Given the description of an element on the screen output the (x, y) to click on. 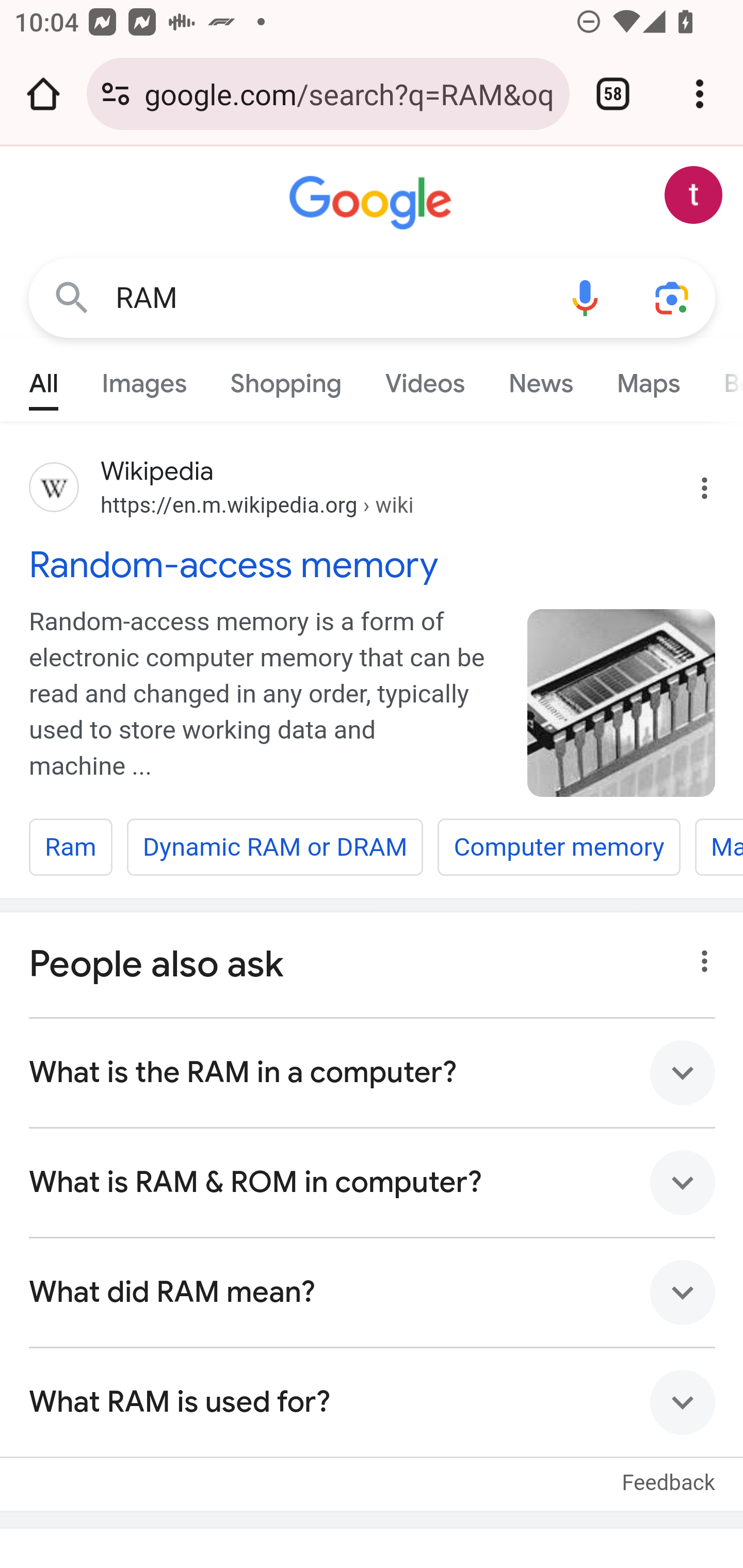
Open the home page (43, 93)
Connection is secure (115, 93)
Switch or close tabs (612, 93)
Customize and control Google Chrome (699, 93)
Google (372, 203)
Google Search (71, 296)
Search using your camera or photos (672, 296)
RAM (328, 297)
Images (144, 378)
Shopping (285, 378)
Videos (424, 378)
News (540, 378)
Maps (647, 378)
Random-access memory (372, 564)
Random-access_memory (621, 703)
Ram (70, 847)
Dynamic RAM or DRAM (275, 847)
Computer memory (558, 847)
About this result (698, 955)
What is the RAM in a computer? (372, 1072)
What is RAM & ROM in computer? (372, 1182)
What did RAM mean? (372, 1293)
What RAM is used for? (372, 1402)
Feedback (669, 1471)
